Given the description of an element on the screen output the (x, y) to click on. 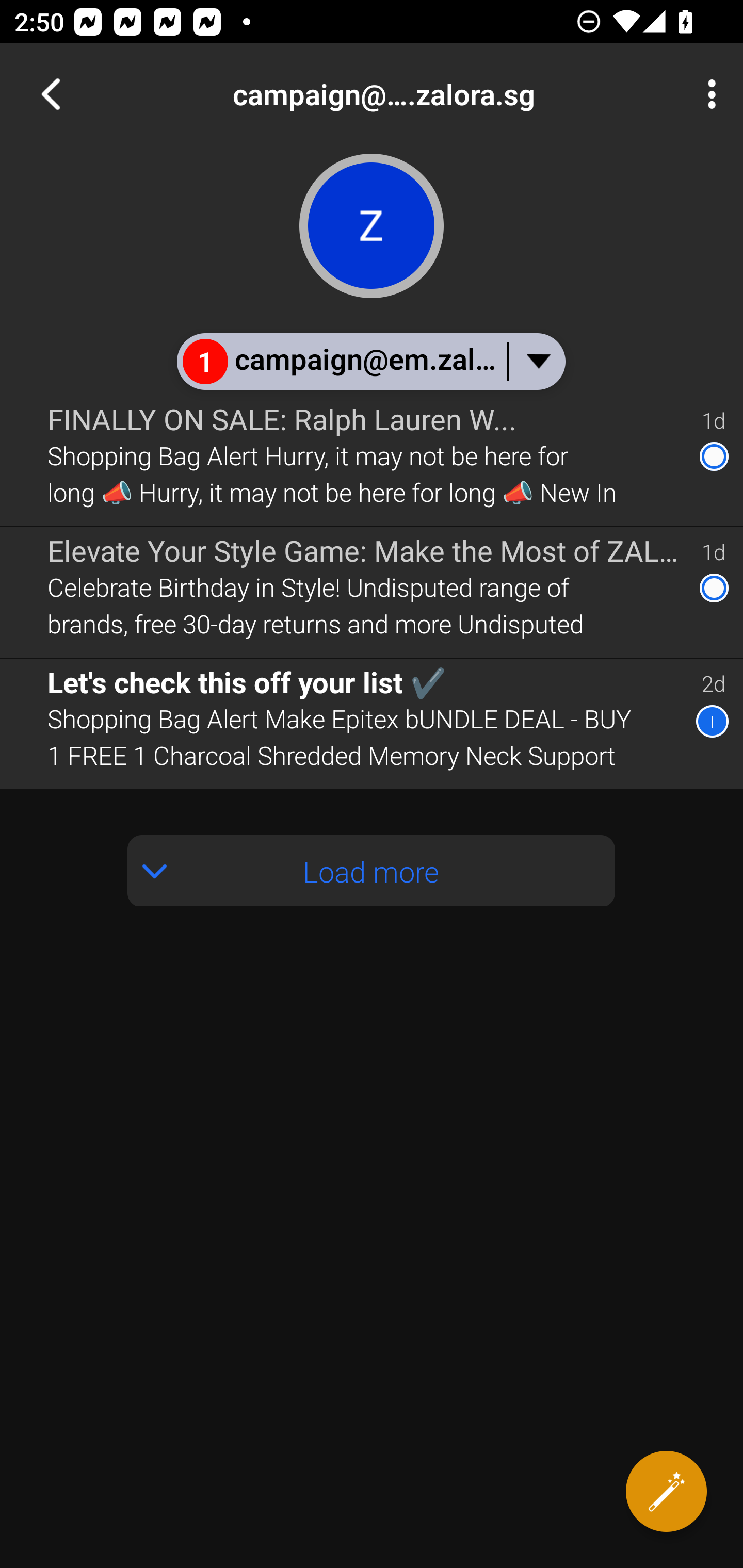
Navigate up (50, 93)
campaign@em.zalora.sg (436, 93)
More Options (706, 93)
1 campaign@em.zalora.sg & You (370, 361)
Load more (371, 870)
